Given the description of an element on the screen output the (x, y) to click on. 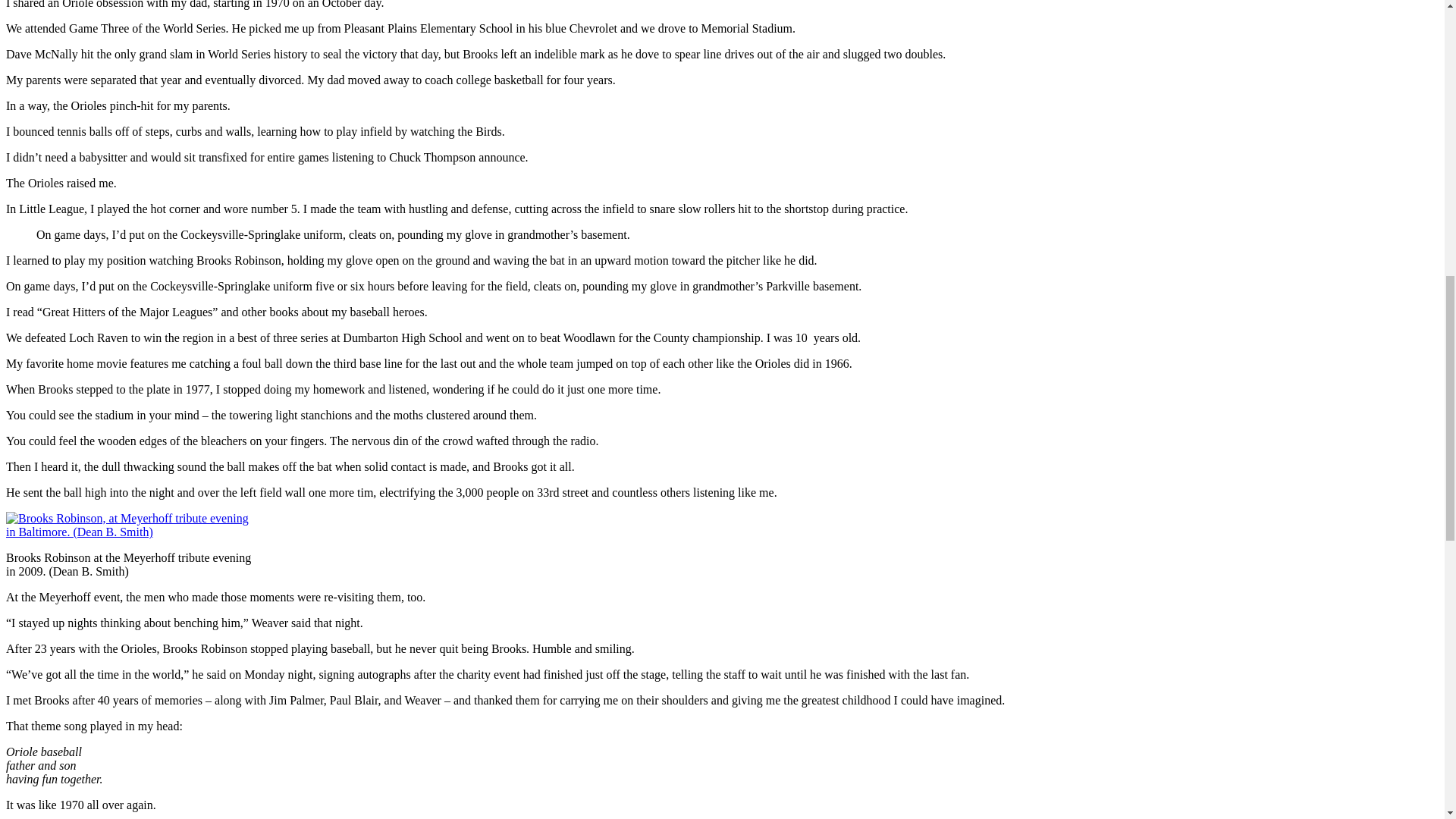
Brooks dean smith1 (130, 524)
